Given the description of an element on the screen output the (x, y) to click on. 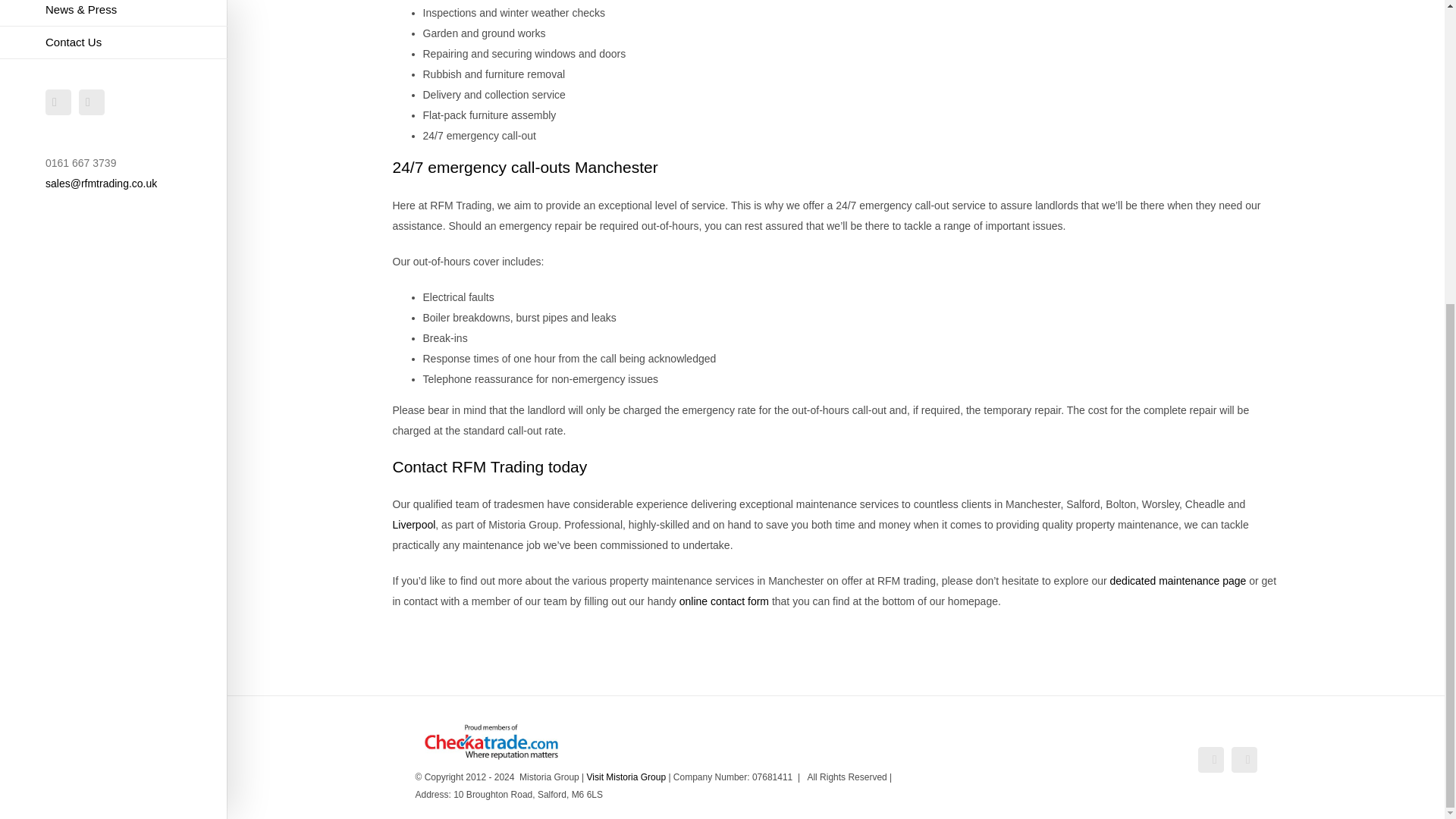
Facebook (58, 102)
Liverpool (414, 524)
Twitter (91, 102)
Contact Us (113, 42)
